Given the description of an element on the screen output the (x, y) to click on. 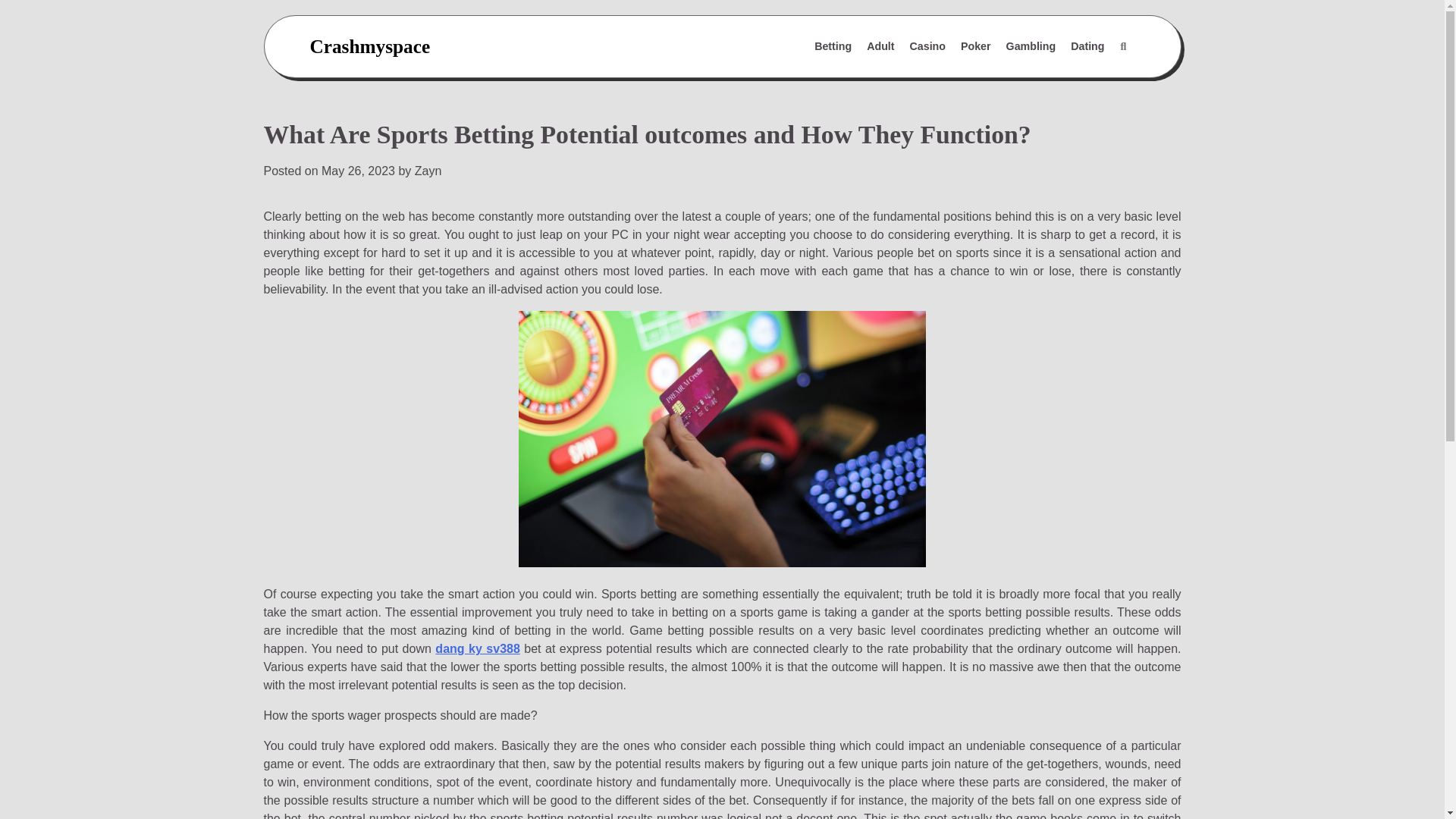
Betting (832, 46)
Search (1123, 47)
Crashmyspace (368, 46)
May 26, 2023 (357, 170)
dang ky sv388 (477, 648)
Dating (1087, 46)
Casino (927, 46)
Gambling (1031, 46)
Adult (880, 46)
Zayn (428, 170)
